Given the description of an element on the screen output the (x, y) to click on. 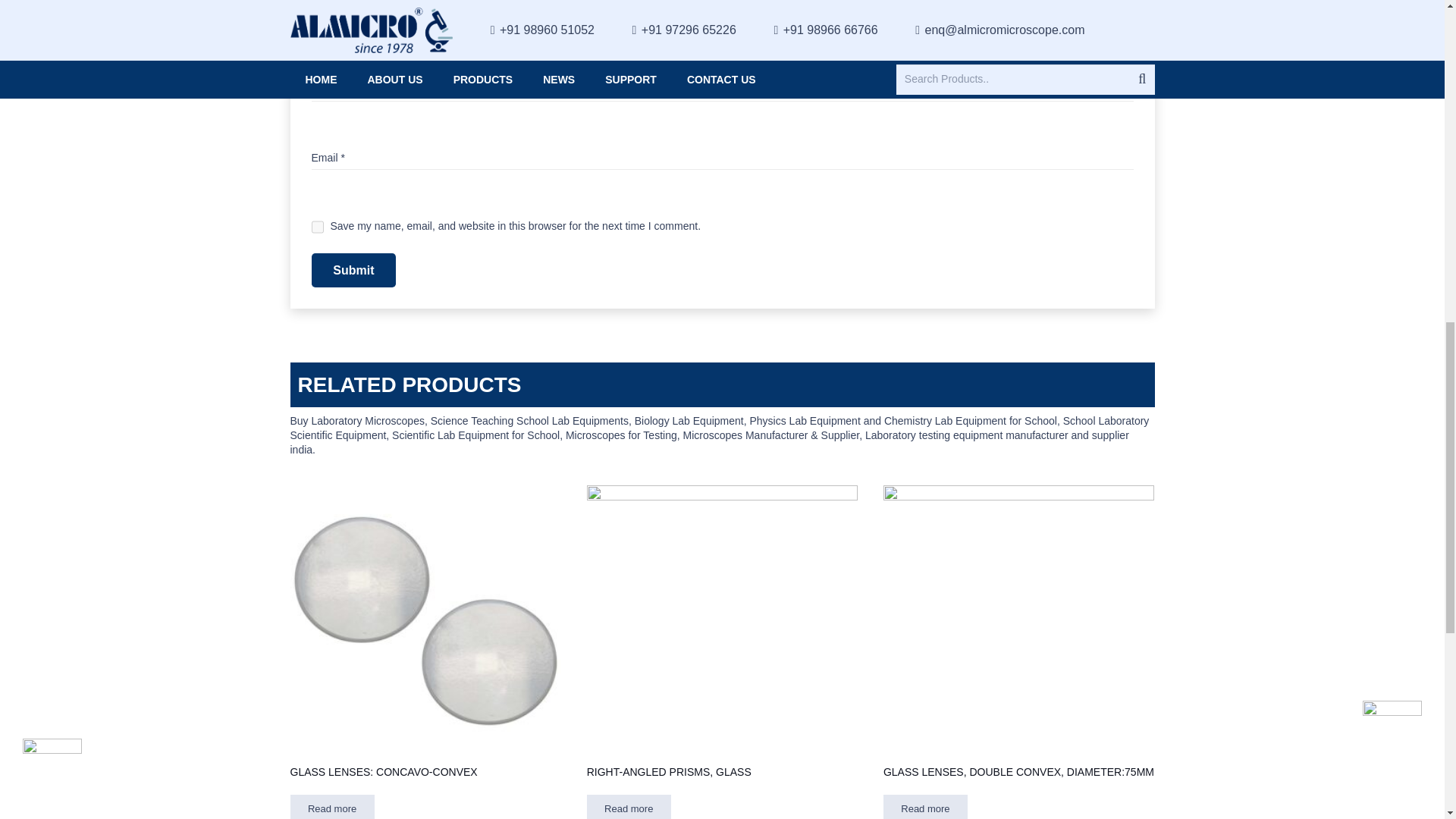
Submit (353, 270)
yes (317, 226)
Back to top (1413, 22)
